Given the description of an element on the screen output the (x, y) to click on. 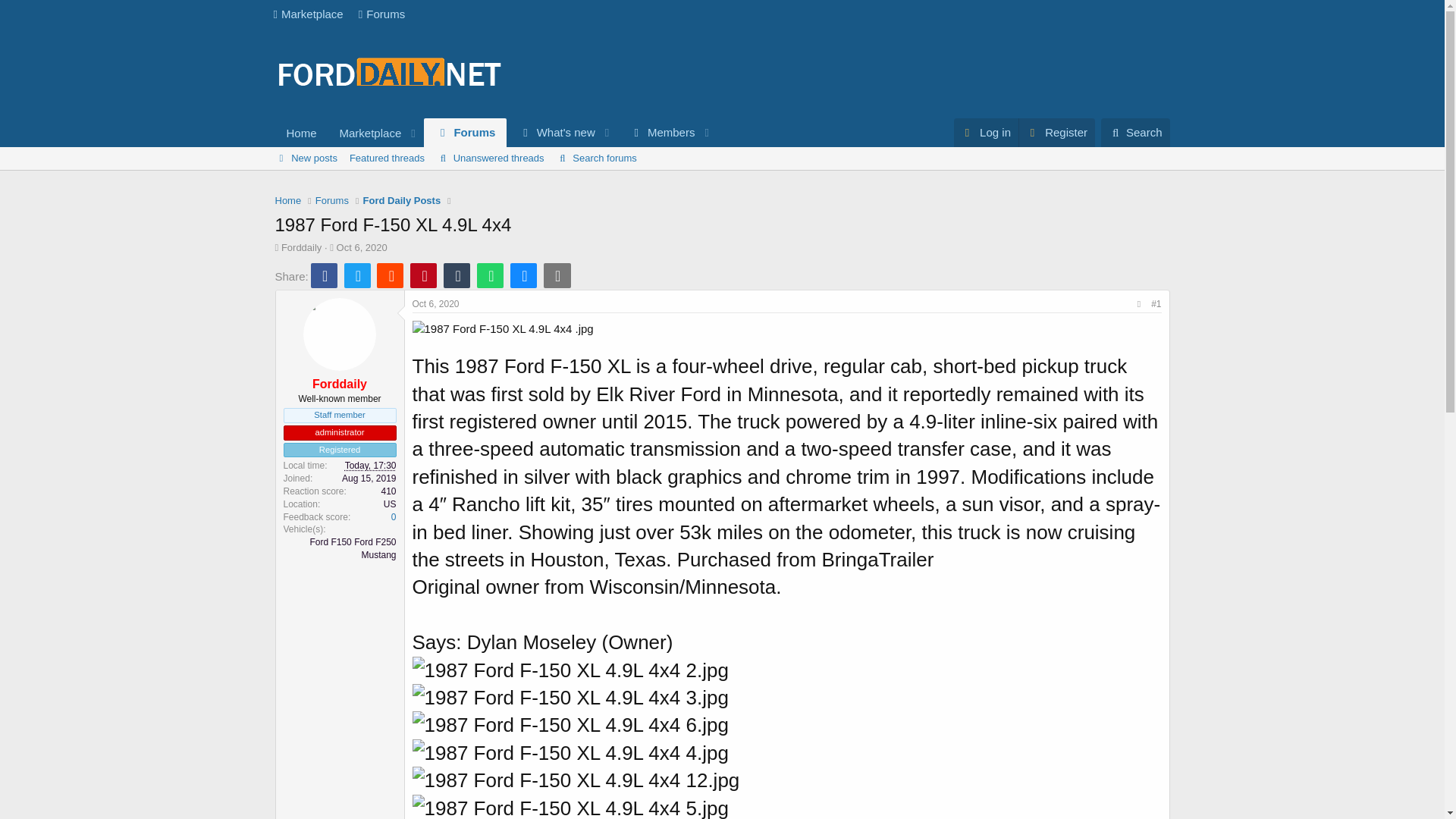
Home (301, 132)
Search (1135, 132)
What's new (550, 132)
1987 Ford F-150 XL 4.9L 4x4 4.jpg (570, 752)
Marketplace Forums (338, 13)
Search forums (596, 158)
Marketplace (307, 13)
Oct 6, 2020 at 7:57 AM (436, 303)
1987 Ford F-150 XL 4.9L 4x4 .jpg (503, 328)
Search (495, 132)
1987 Ford F-150 XL 4.9L 4x4  6.jpg (1135, 132)
1987 Ford F-150 XL 4.9L 4x4  12.jpg (570, 724)
1987 Ford F-150 XL 4.9L 4x4  2.jpg (575, 779)
Log in (570, 669)
